Given the description of an element on the screen output the (x, y) to click on. 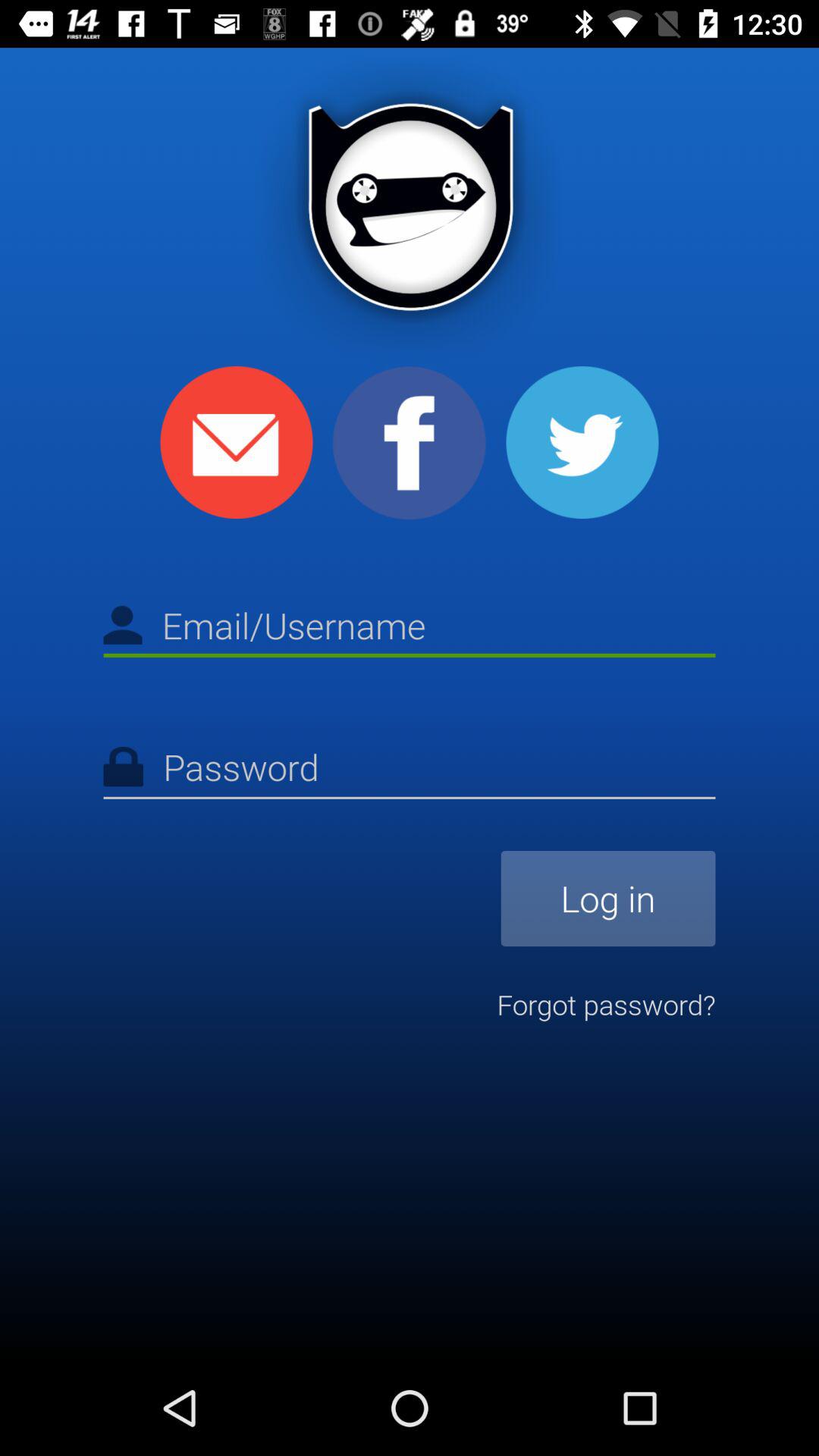
email (236, 442)
